Given the description of an element on the screen output the (x, y) to click on. 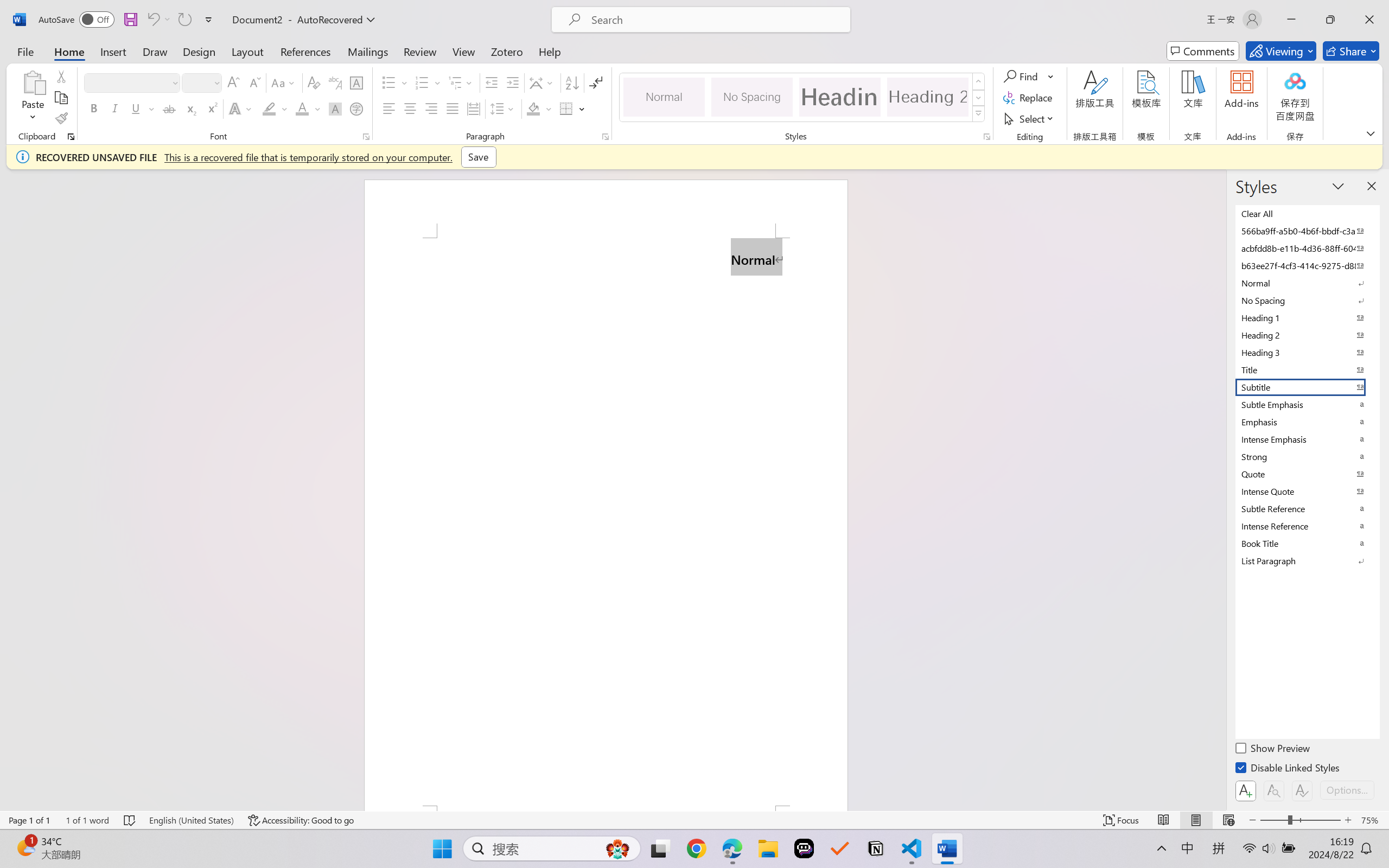
Emphasis (1306, 421)
Text Highlight Color Yellow (269, 108)
Row Down (978, 97)
Asian Layout (542, 82)
Show/Hide Editing Marks (595, 82)
Title (1306, 369)
Distributed (473, 108)
Font Color RGB(255, 0, 0) (302, 108)
Multilevel List (461, 82)
Font... (365, 136)
